Given the description of an element on the screen output the (x, y) to click on. 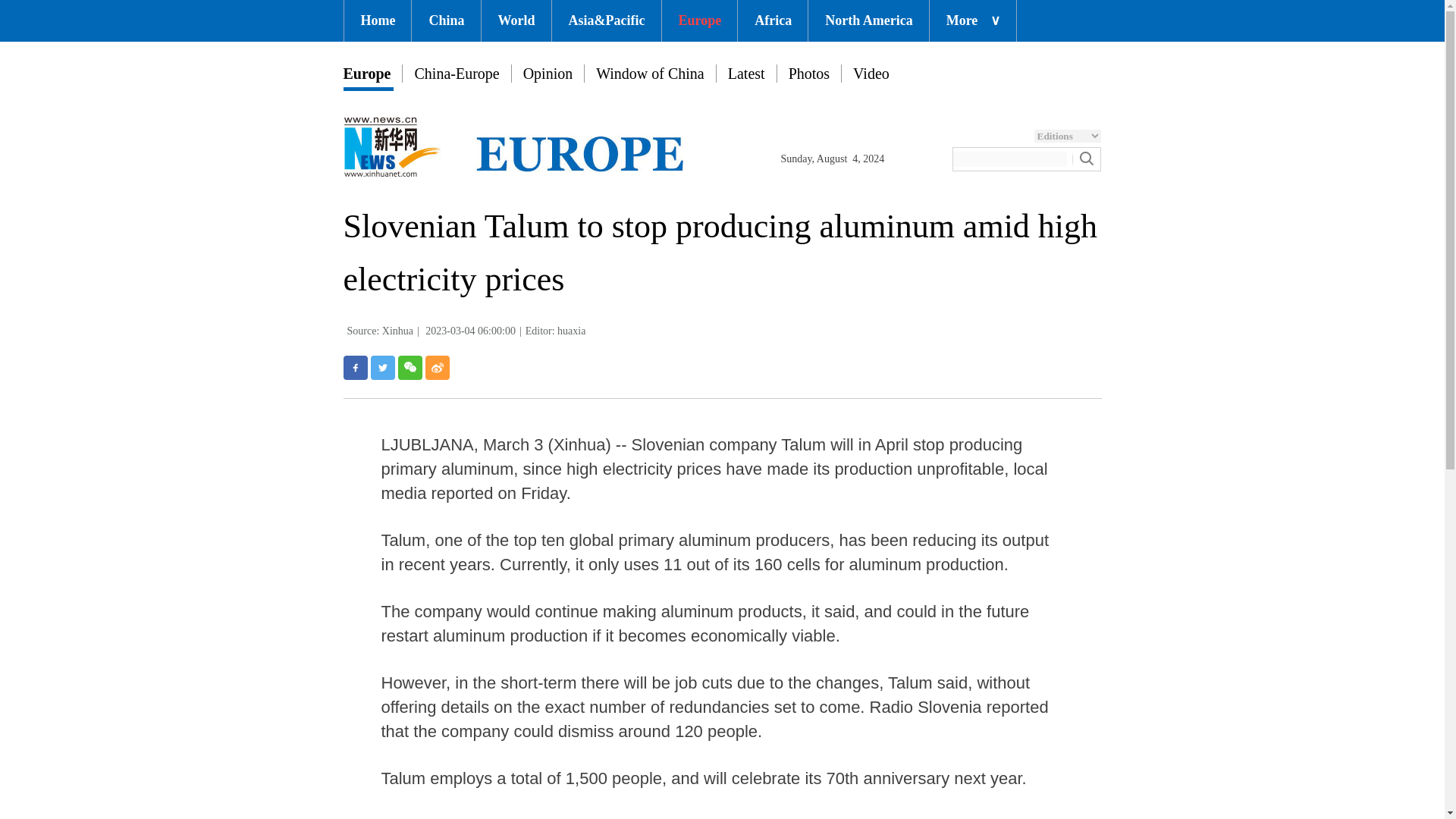
China (446, 20)
Europe (698, 20)
Home (377, 20)
North America (868, 20)
World (516, 20)
Africa (773, 20)
